Given the description of an element on the screen output the (x, y) to click on. 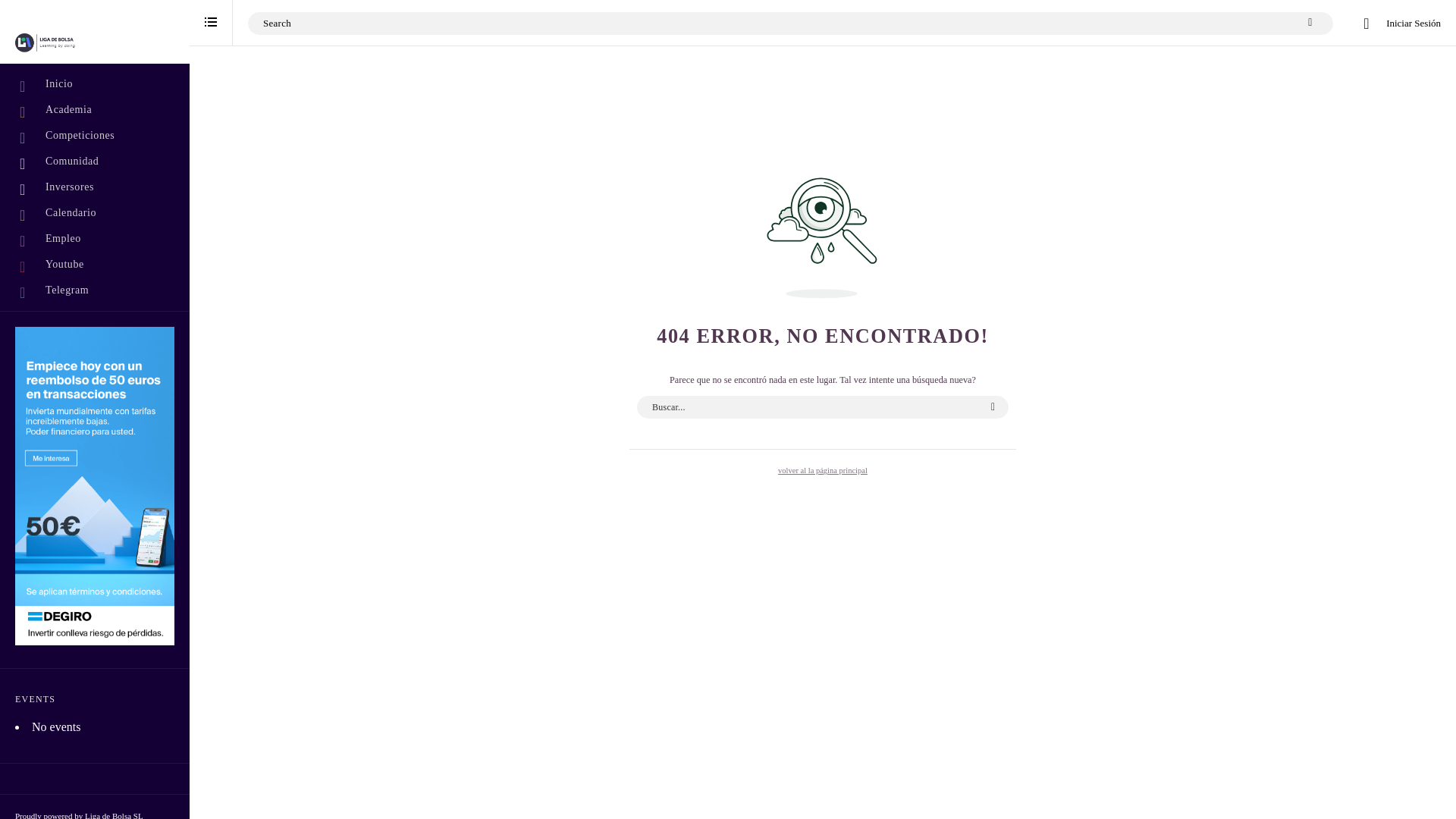
Competiciones (94, 135)
Youtube (94, 264)
Comunidad (94, 161)
Competiciones (94, 135)
Academia (94, 110)
Empleo (94, 238)
Telegram (94, 290)
Inversores (94, 187)
Empleo (94, 238)
Inicio (94, 83)
